Given the description of an element on the screen output the (x, y) to click on. 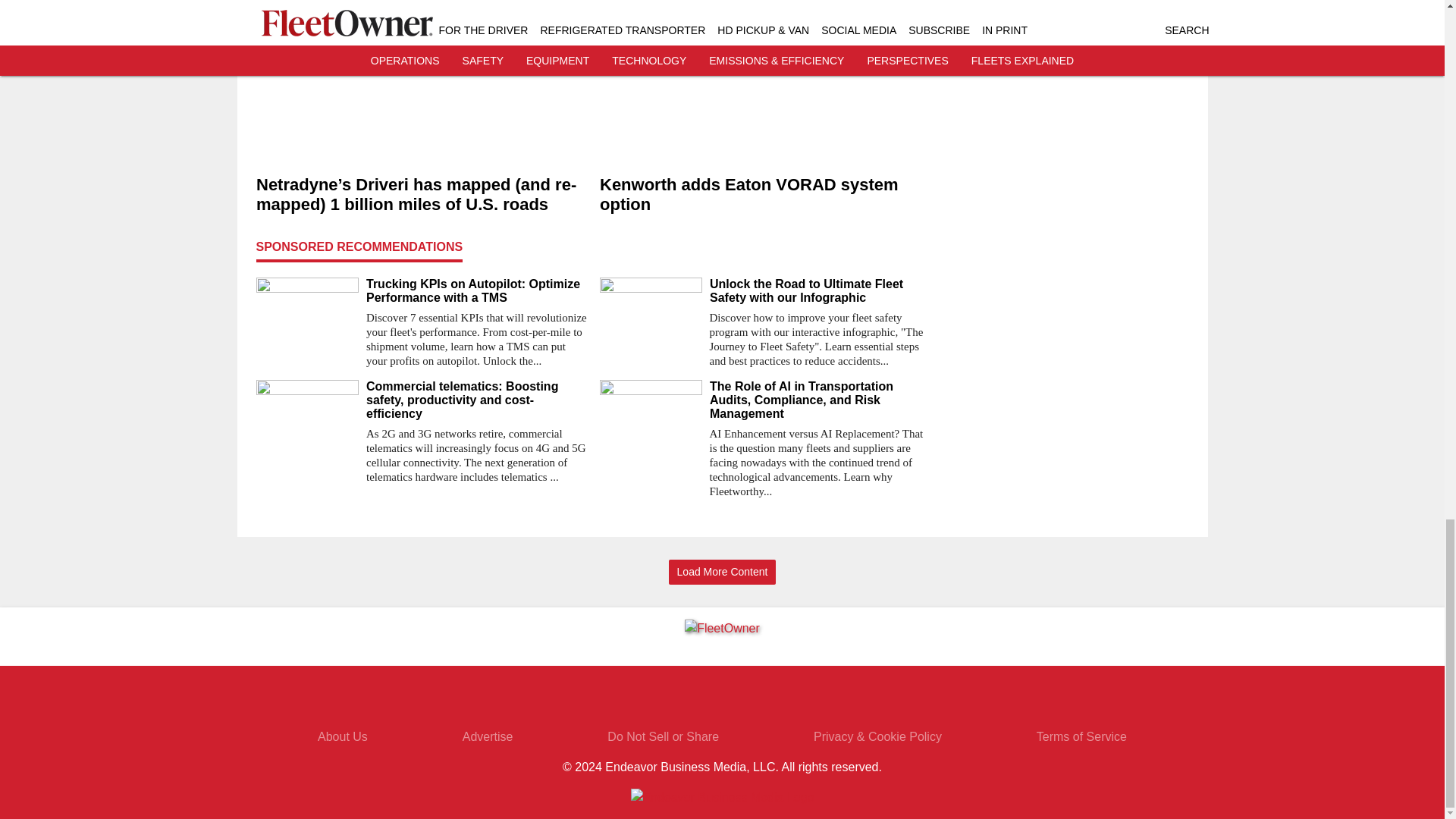
Kenworth adds Eaton VORAD system option (764, 194)
Trucking KPIs on Autopilot: Optimize Performance with a TMS (476, 290)
